Given the description of an element on the screen output the (x, y) to click on. 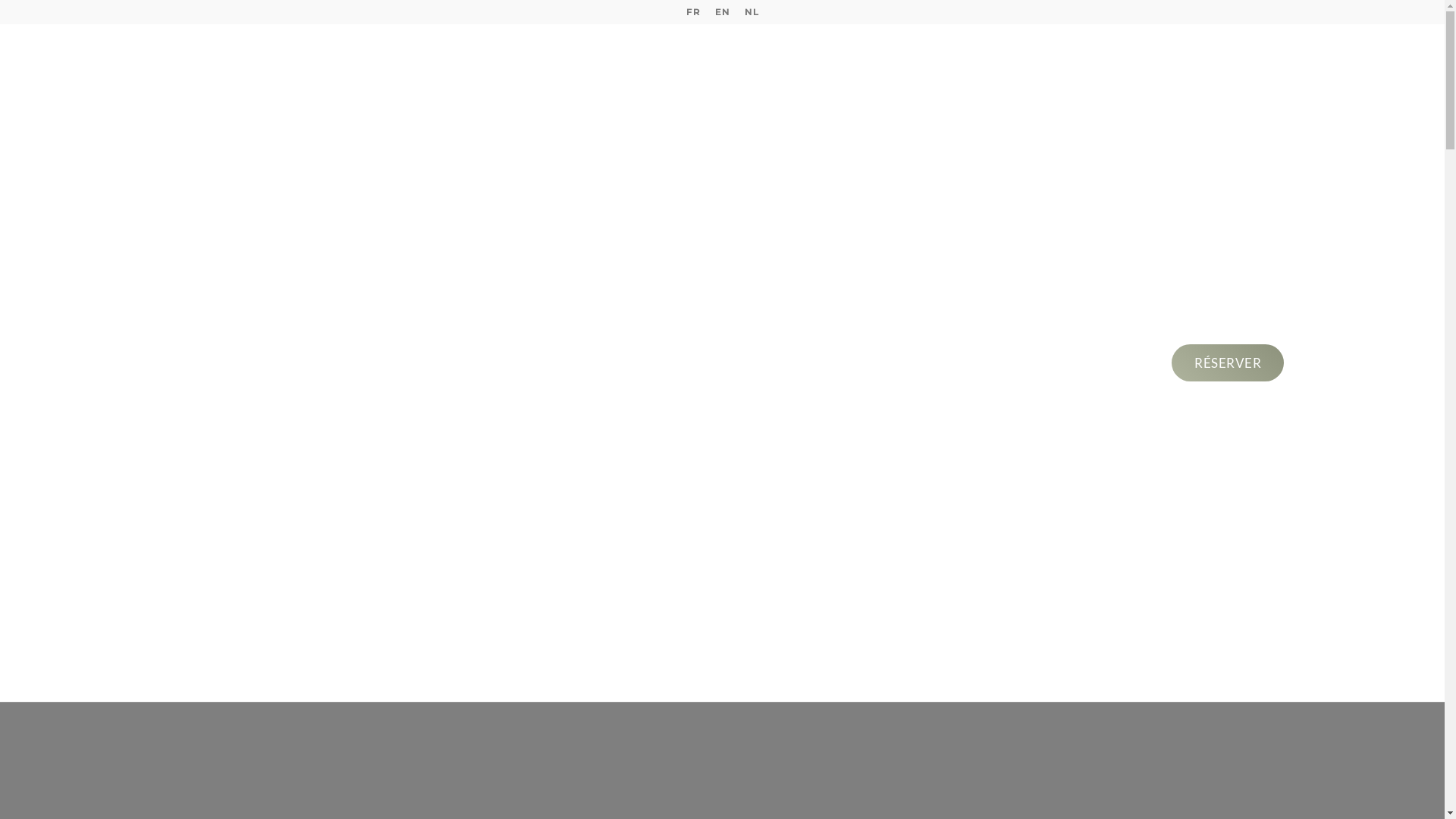
NL Element type: text (751, 11)
FR Element type: text (692, 11)
EN Element type: text (722, 11)
